Given the description of an element on the screen output the (x, y) to click on. 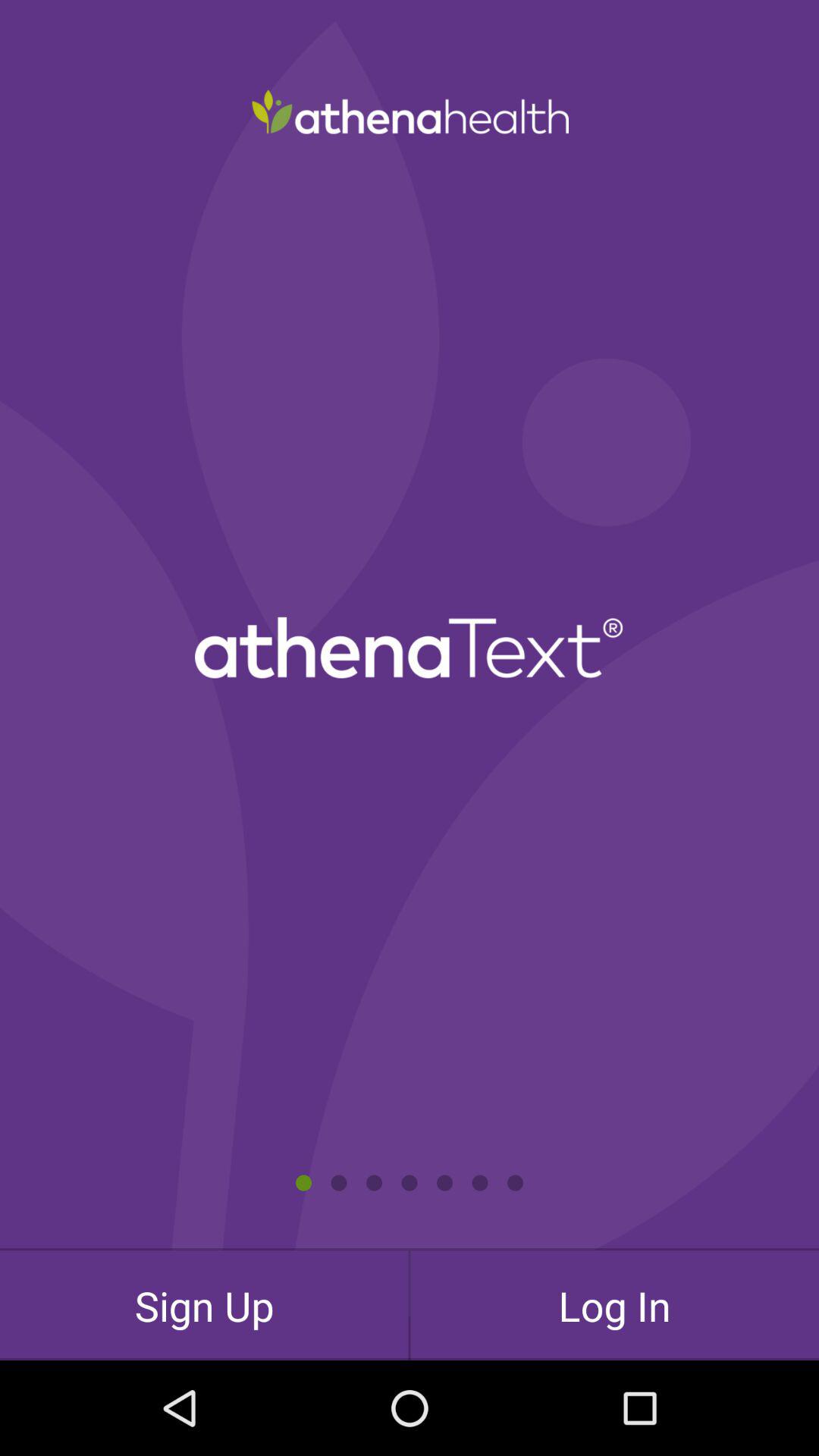
jump until sign up icon (204, 1305)
